Given the description of an element on the screen output the (x, y) to click on. 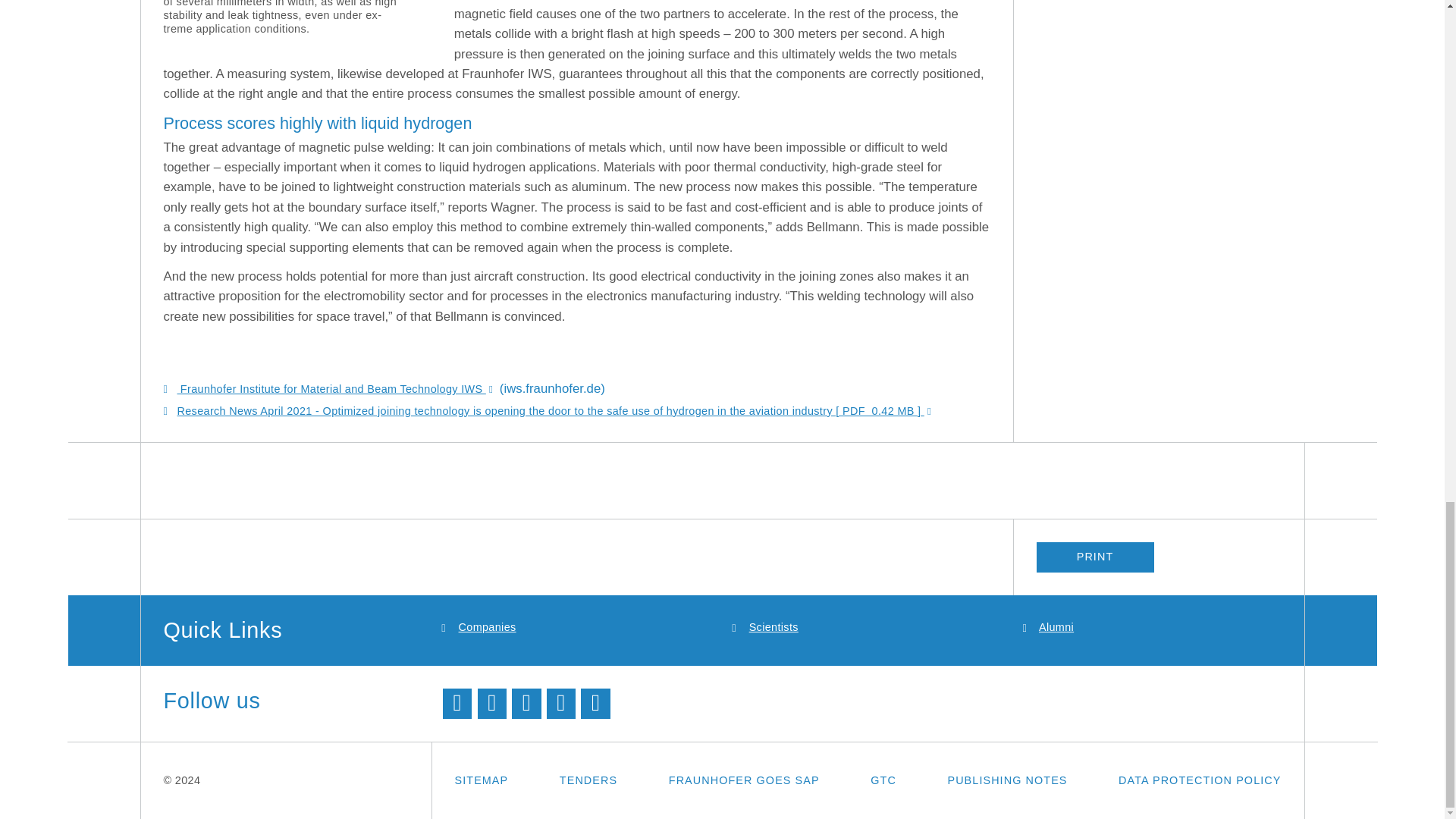
 Fraunhofer Institute for Material and Beam Technology IWS  (336, 388)
Visit us on Instagram (595, 703)
